Given the description of an element on the screen output the (x, y) to click on. 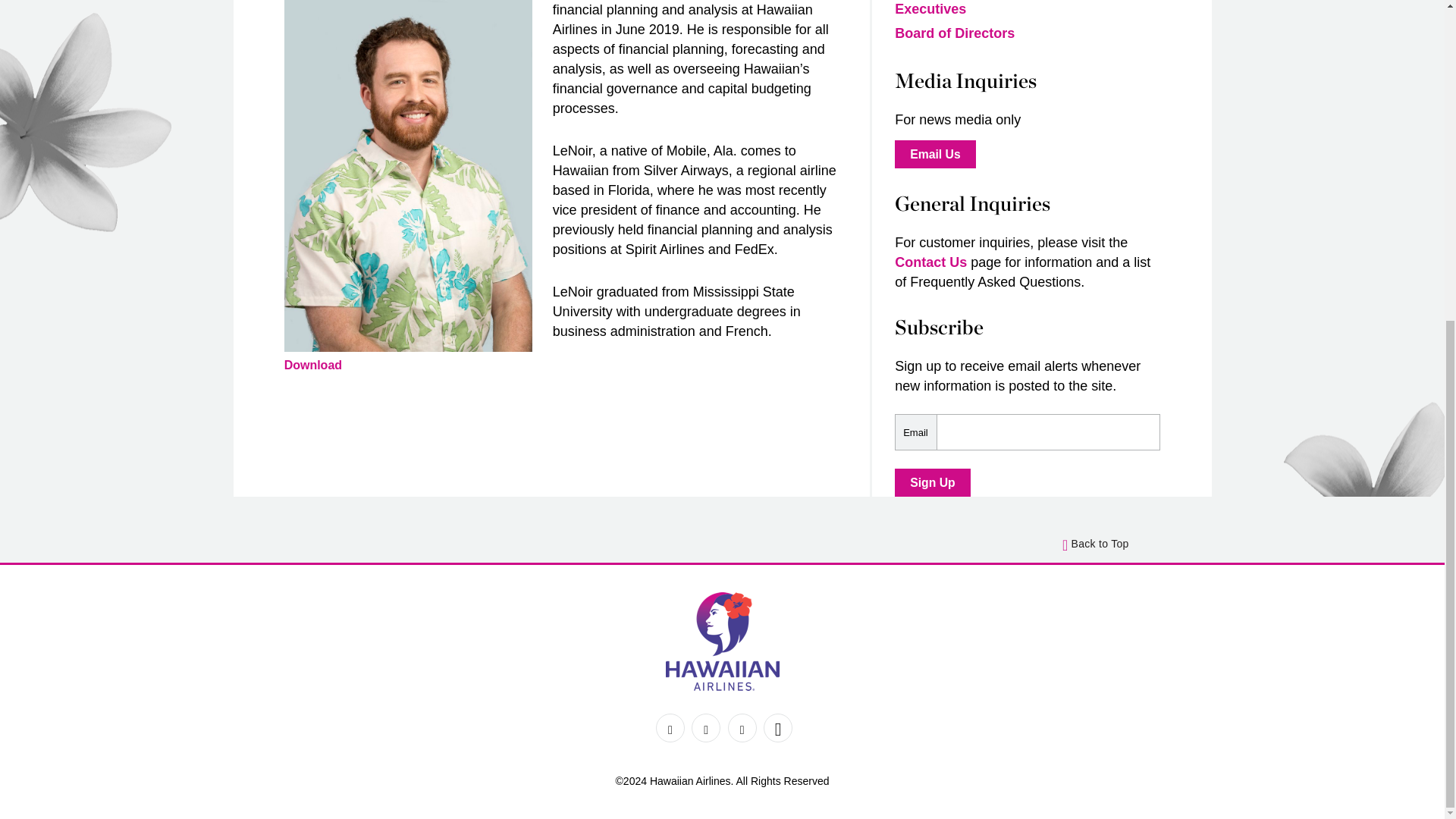
Visit us on Instagram (742, 727)
Visit us on Twitter (705, 727)
Visit us on YouTube (777, 727)
Visit us on Facebook (670, 727)
